Given the description of an element on the screen output the (x, y) to click on. 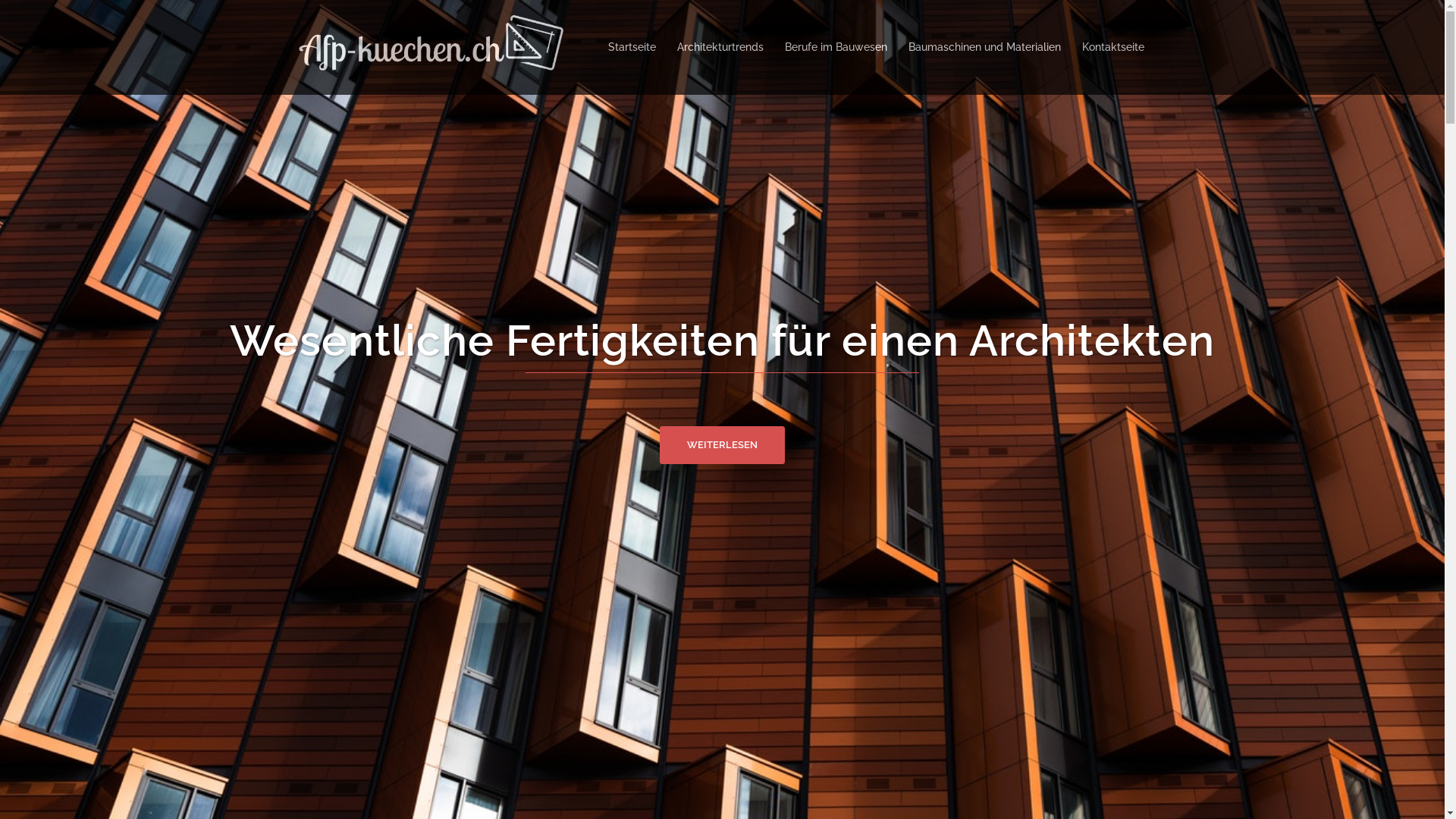
Startseite Element type: text (631, 47)
Kontaktseite Element type: text (1112, 47)
Afp-kuechen.ch Element type: hover (425, 45)
Springe zum Inhalt Element type: text (0, 0)
WEITERLESEN Element type: text (721, 445)
Baumaschinen und Materialien Element type: text (984, 47)
Architekturtrends Element type: text (719, 47)
Berufe im Bauwesen Element type: text (835, 47)
Suche Element type: text (99, 18)
Suche Element type: text (132, 18)
